Given the description of an element on the screen output the (x, y) to click on. 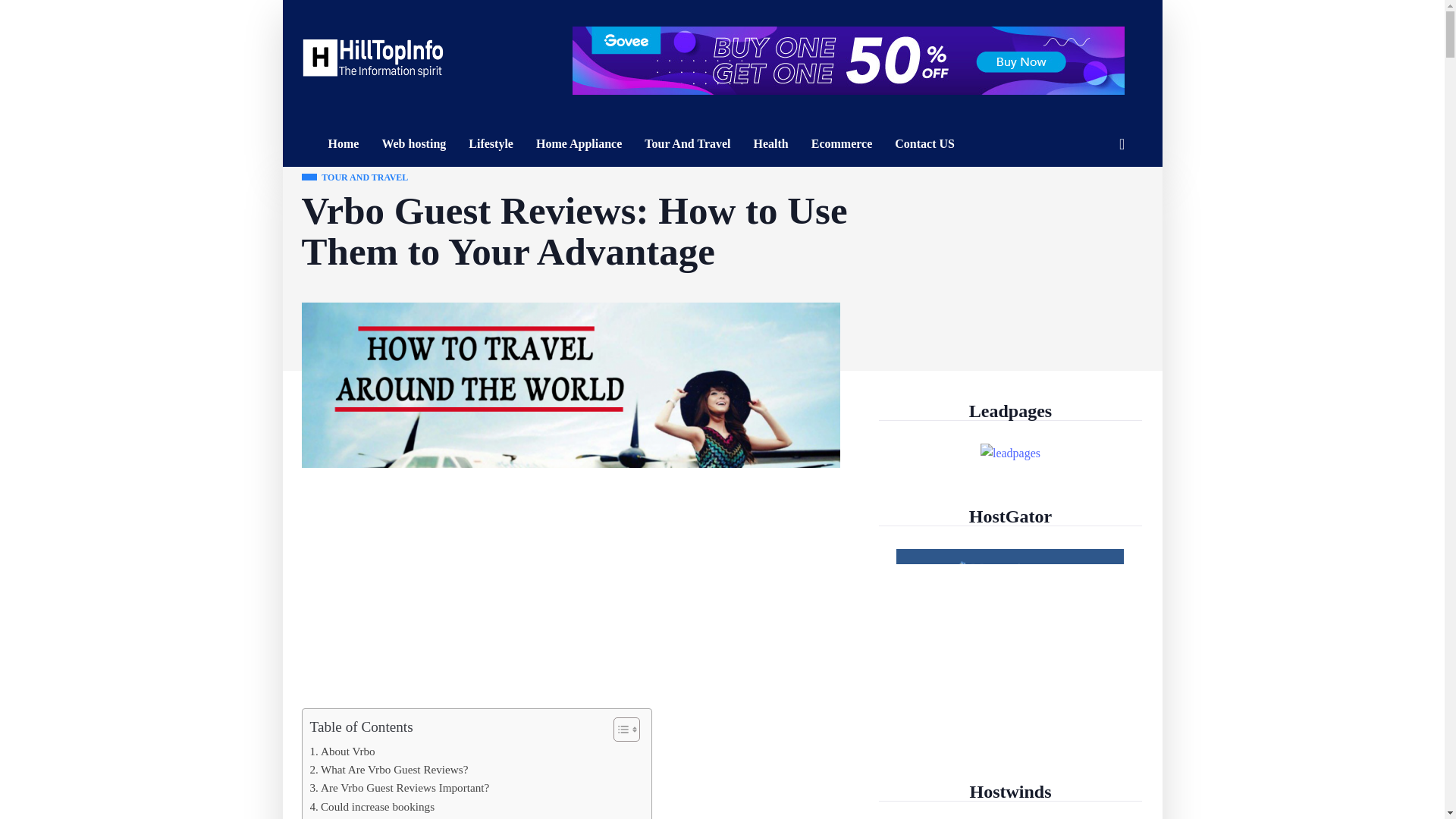
What Are Vrbo Guest Reviews? (387, 769)
Home Appliance (578, 144)
Promotes engagement with guests (392, 817)
Are Vrbo Guest Reviews Important? (398, 787)
Lifestyle (490, 144)
Are Vrbo Guest Reviews Important? (398, 787)
About Vrbo (341, 751)
Promotes engagement with guests (392, 817)
Contact US (924, 144)
Tour And Travel (687, 144)
